Given the description of an element on the screen output the (x, y) to click on. 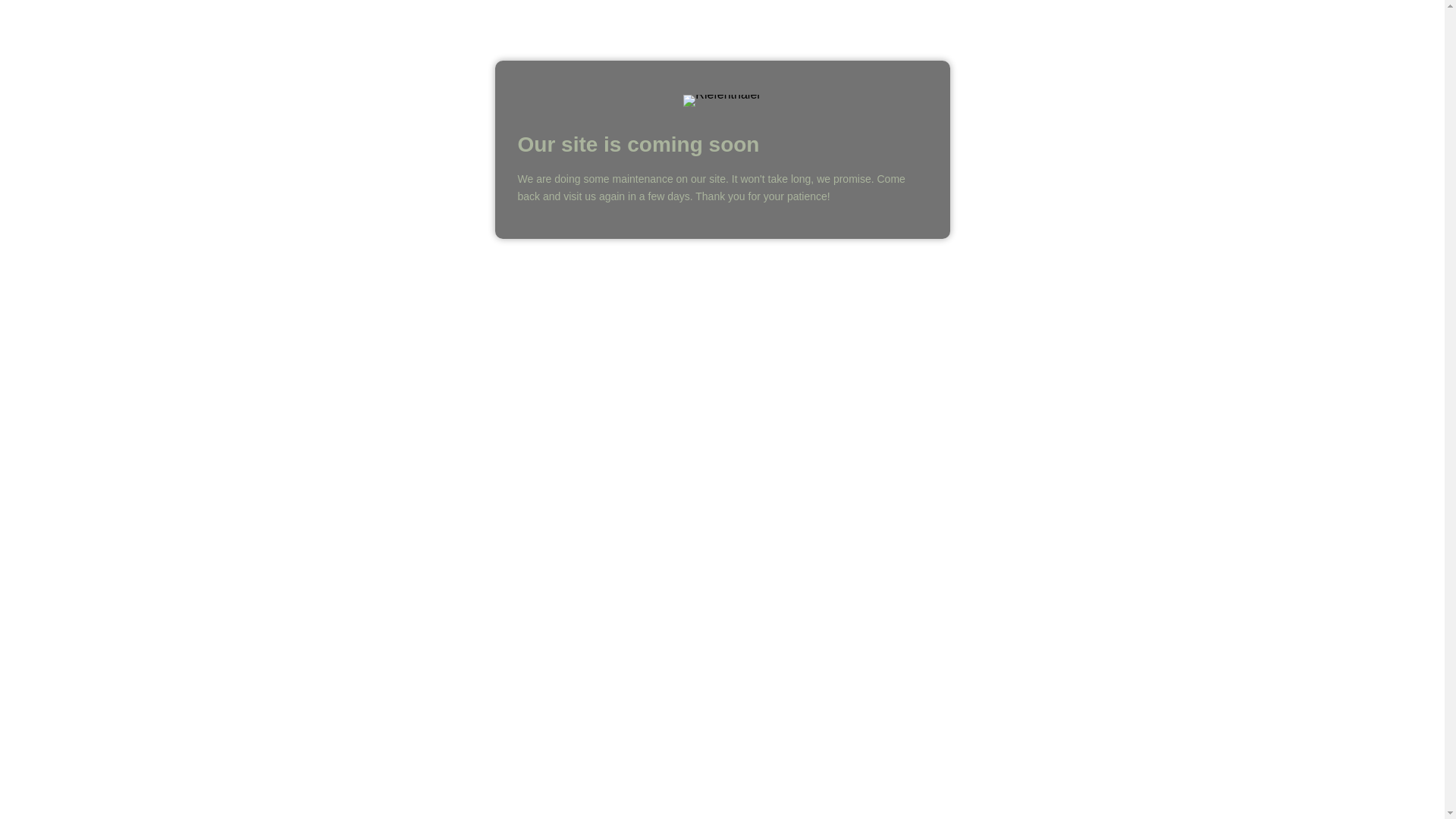
Riefenthaler Element type: hover (721, 100)
